Given the description of an element on the screen output the (x, y) to click on. 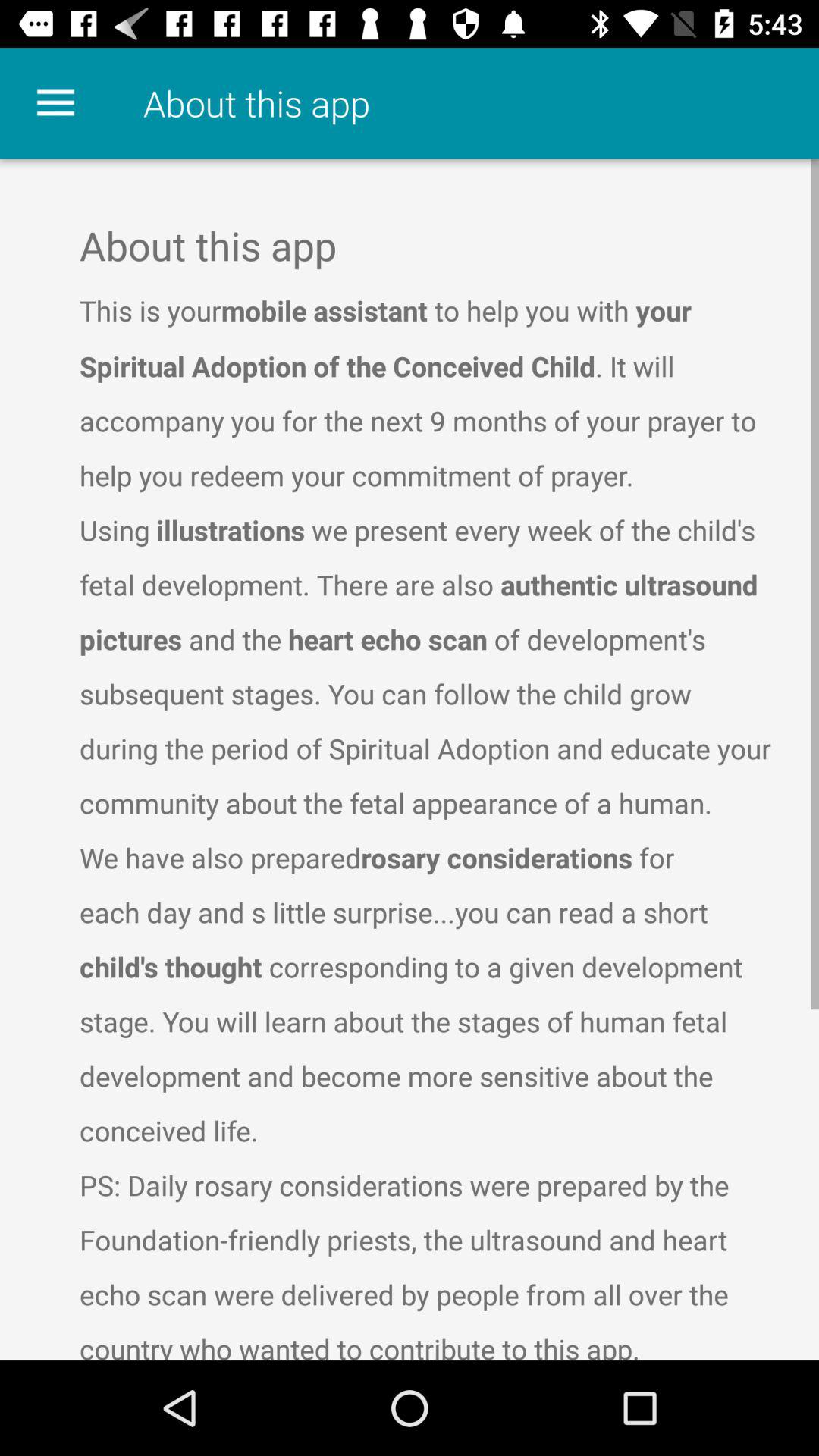
click the icon to the left of about this app (55, 103)
